Given the description of an element on the screen output the (x, y) to click on. 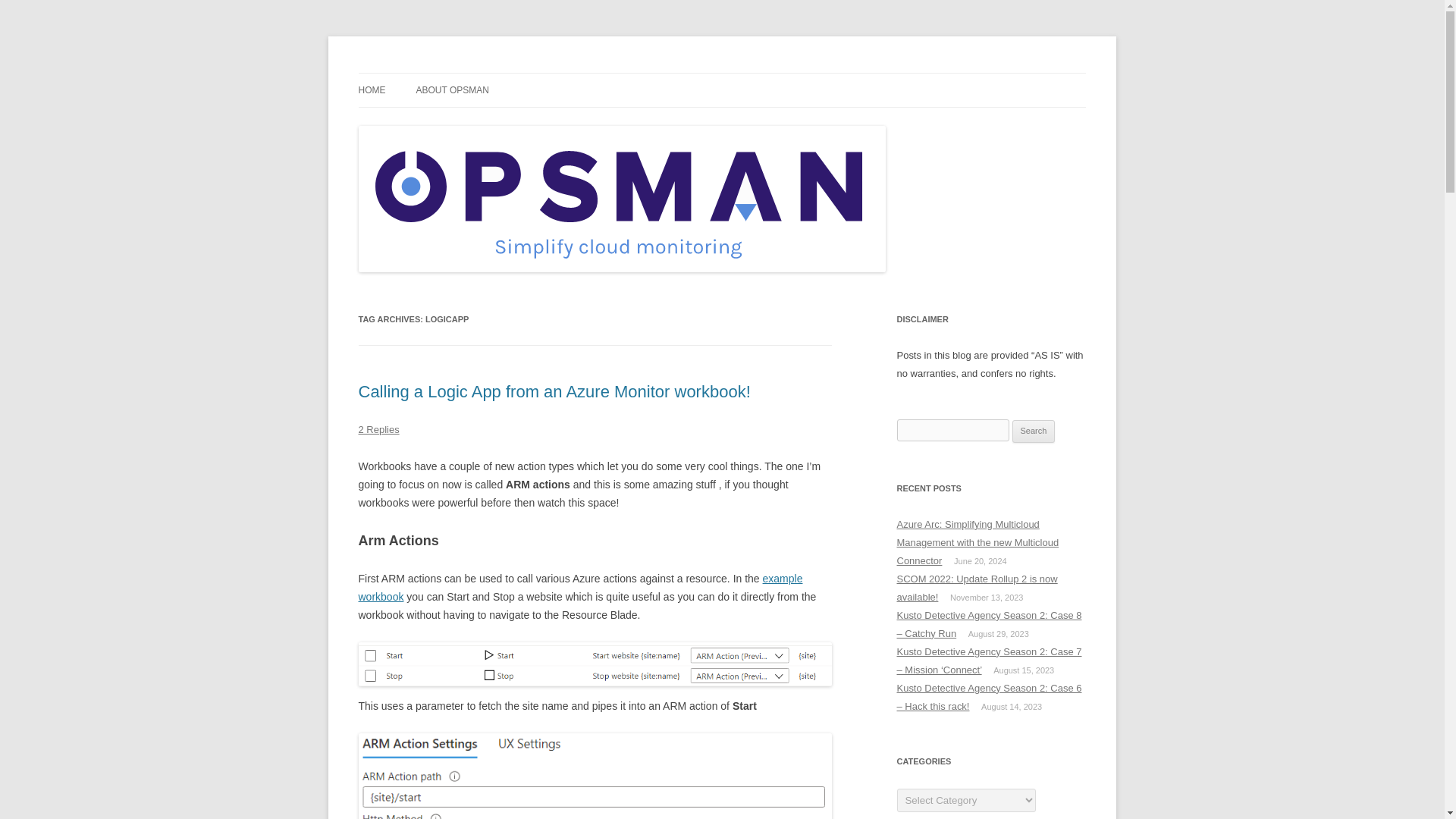
Search (1033, 431)
OpsMan (396, 72)
Search (1033, 431)
SCOM 2022: Update Rollup 2 is now available! (976, 587)
Calling a Logic App from an Azure Monitor workbook! (553, 391)
example workbook (580, 587)
2 Replies (378, 429)
ABOUT OPSMAN (450, 90)
